Given the description of an element on the screen output the (x, y) to click on. 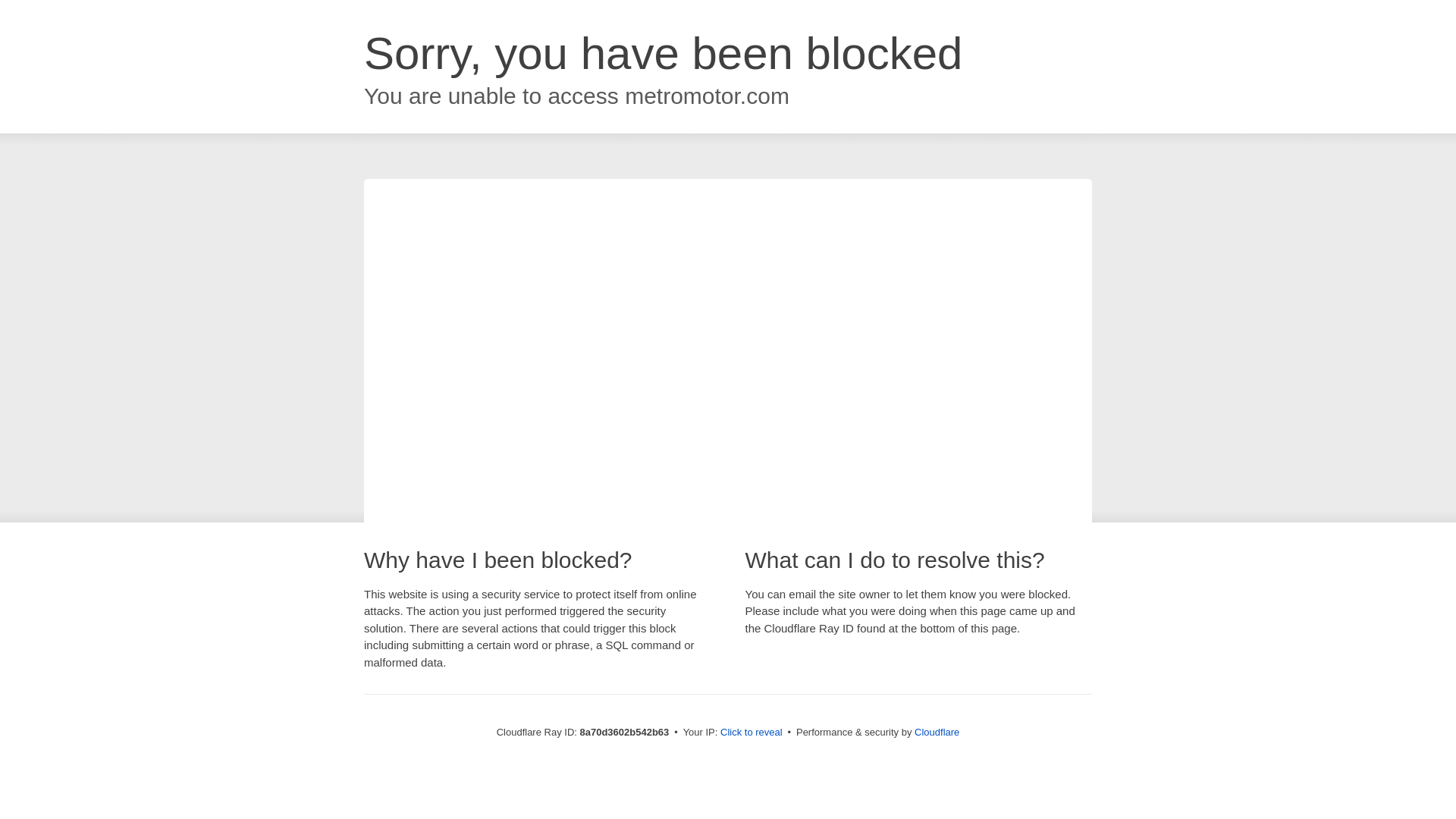
Cloudflare (936, 731)
Click to reveal (751, 732)
